Given the description of an element on the screen output the (x, y) to click on. 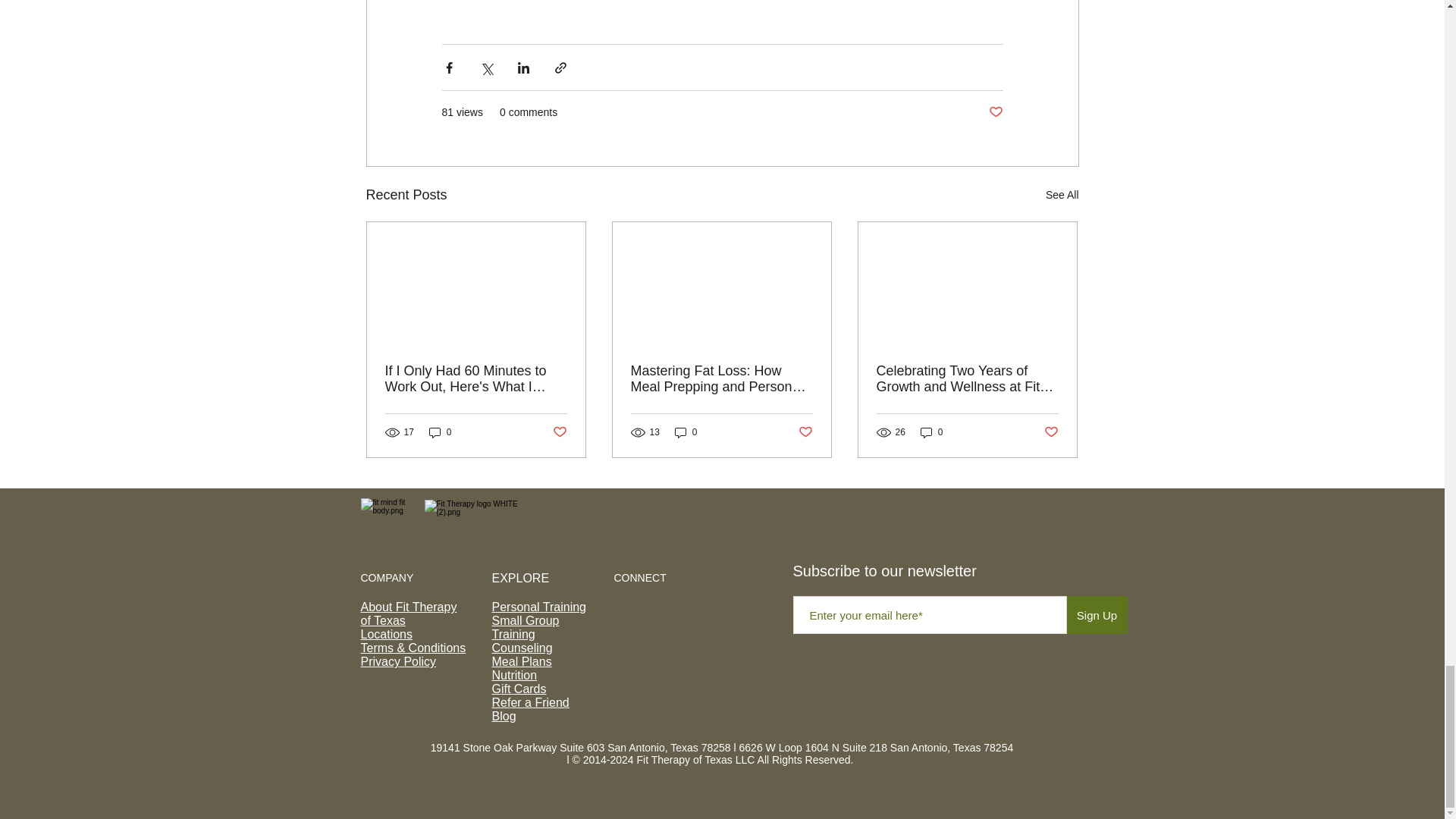
See All (1061, 195)
Post not marked as liked (995, 112)
